Given the description of an element on the screen output the (x, y) to click on. 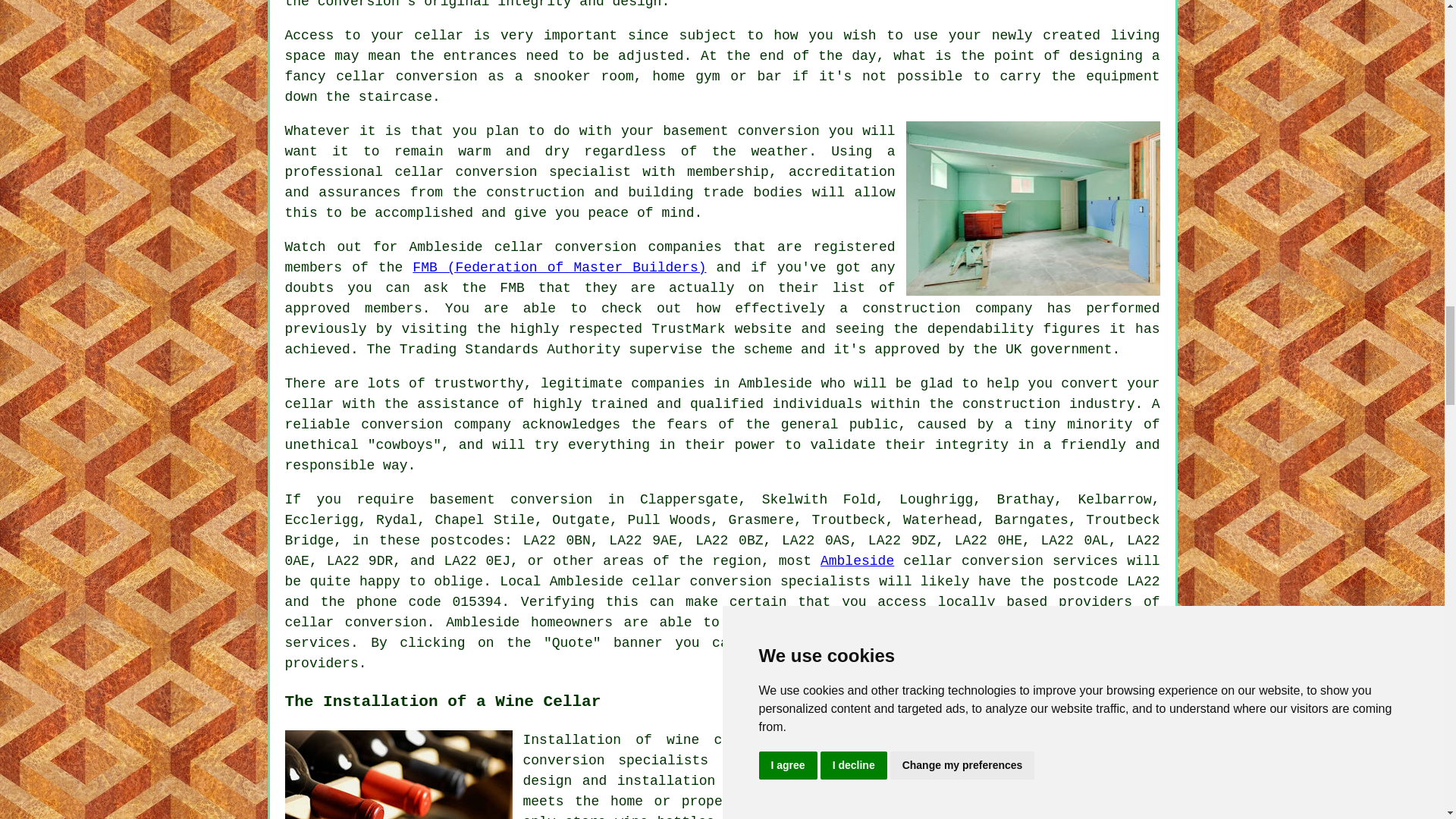
cellar conversion (355, 622)
Wine Cellar Installation Ambleside (398, 774)
conversion specialists (780, 581)
conversion (905, 642)
basement conversion specialists (841, 750)
